Given the description of an element on the screen output the (x, y) to click on. 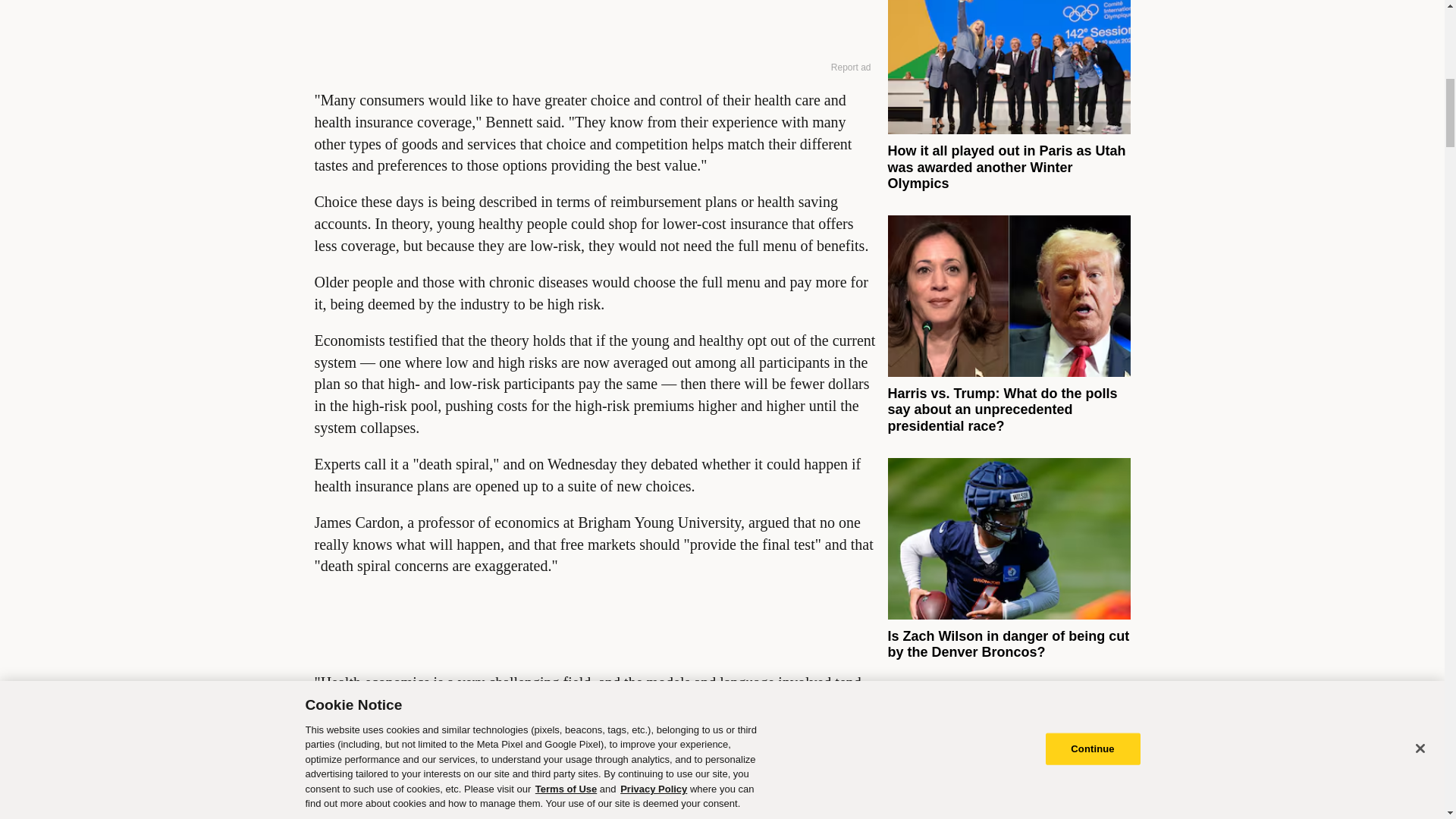
Report ad (850, 67)
3rd party ad content (594, 27)
